Given the description of an element on the screen output the (x, y) to click on. 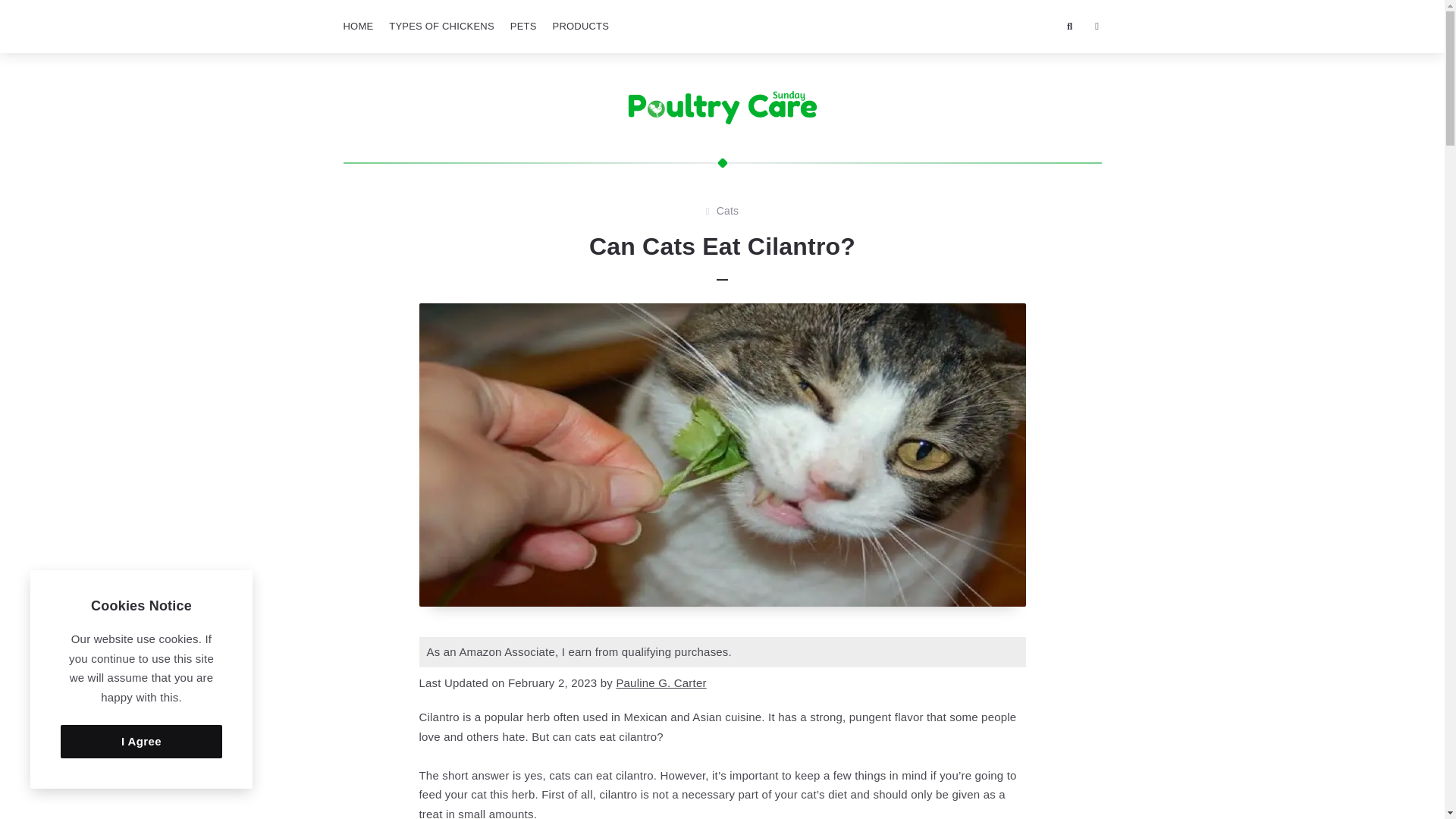
Pauline G. Carter (660, 682)
Cats (727, 211)
TYPES OF CHICKENS (441, 26)
PRODUCTS (580, 26)
HOME (357, 26)
